Given the description of an element on the screen output the (x, y) to click on. 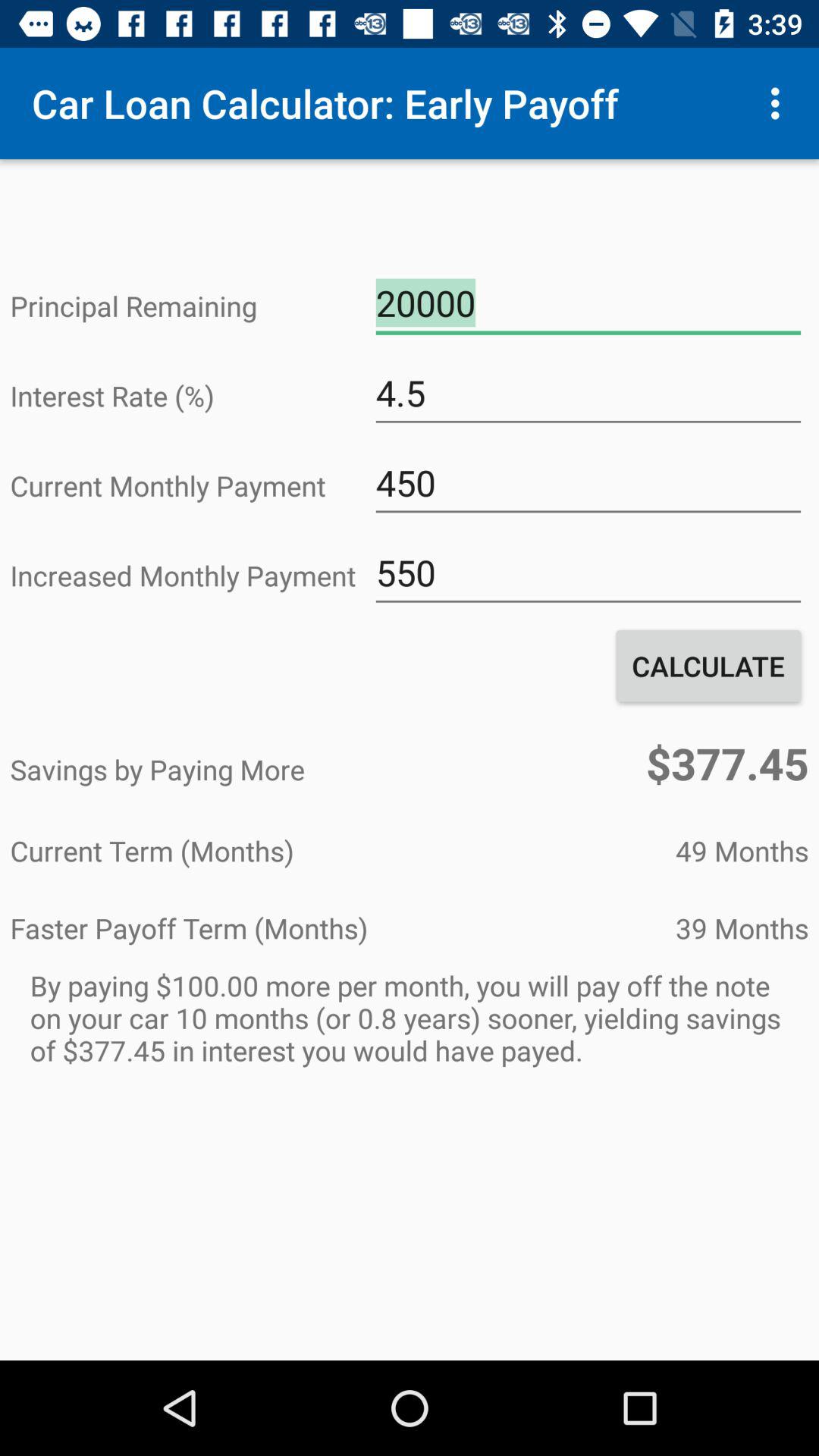
press item below the 4.5 (587, 483)
